Given the description of an element on the screen output the (x, y) to click on. 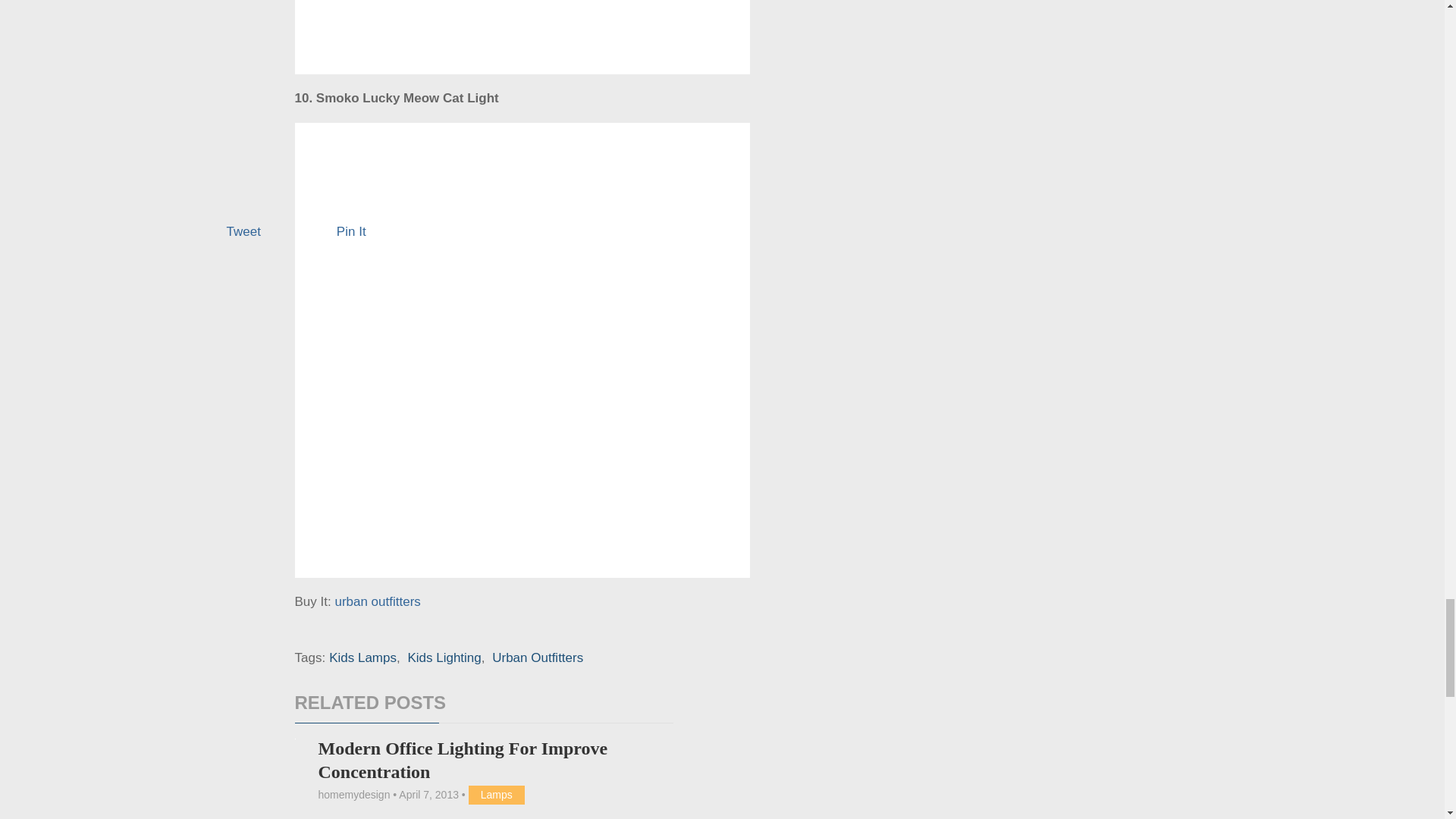
Posts by homemydesign (353, 794)
Modern Office Lighting For Improve Concentration (462, 760)
View all posts in Lamps (496, 794)
